Given the description of an element on the screen output the (x, y) to click on. 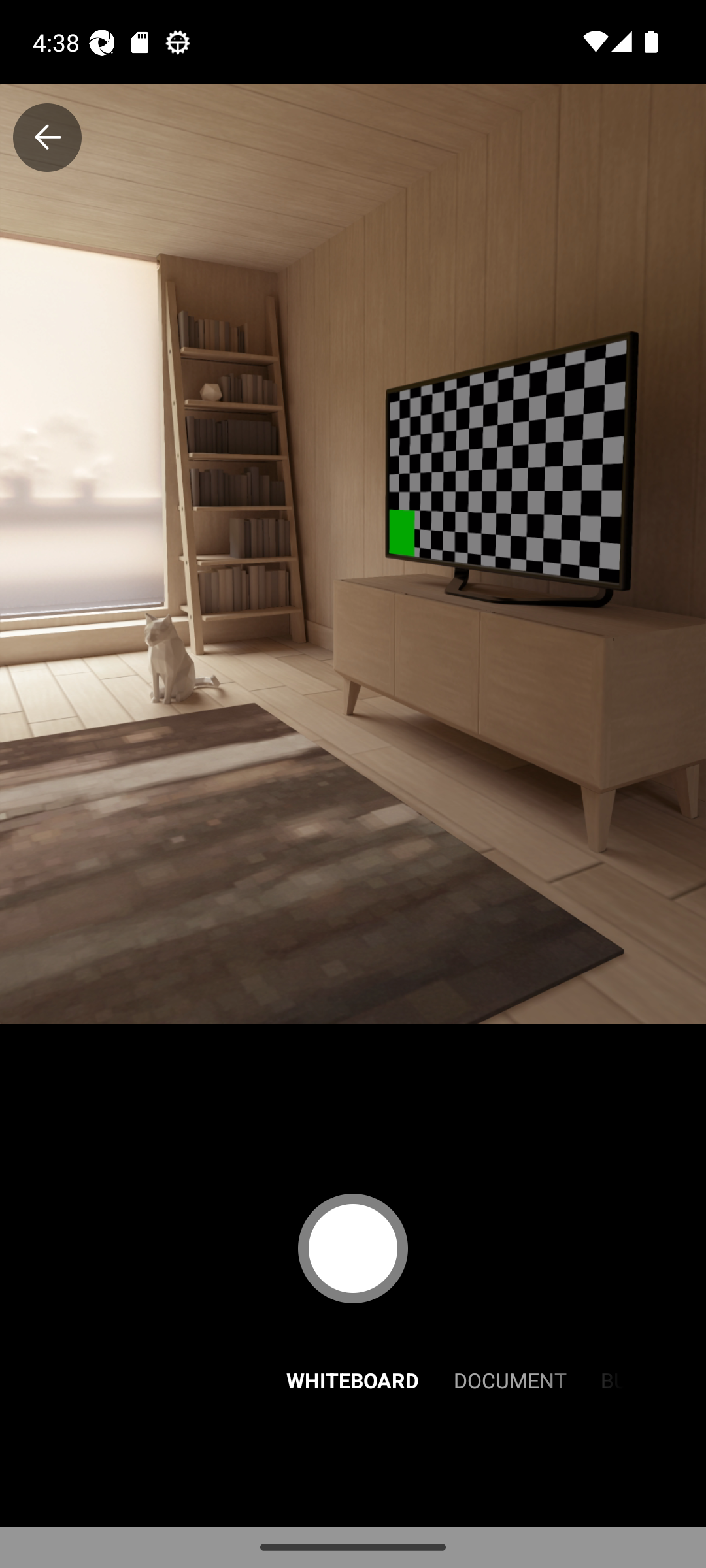
Close (47, 137)
Capture (352, 1248)
WHITEBOARD (352, 1379)
DOCUMENT (509, 1379)
